Given the description of an element on the screen output the (x, y) to click on. 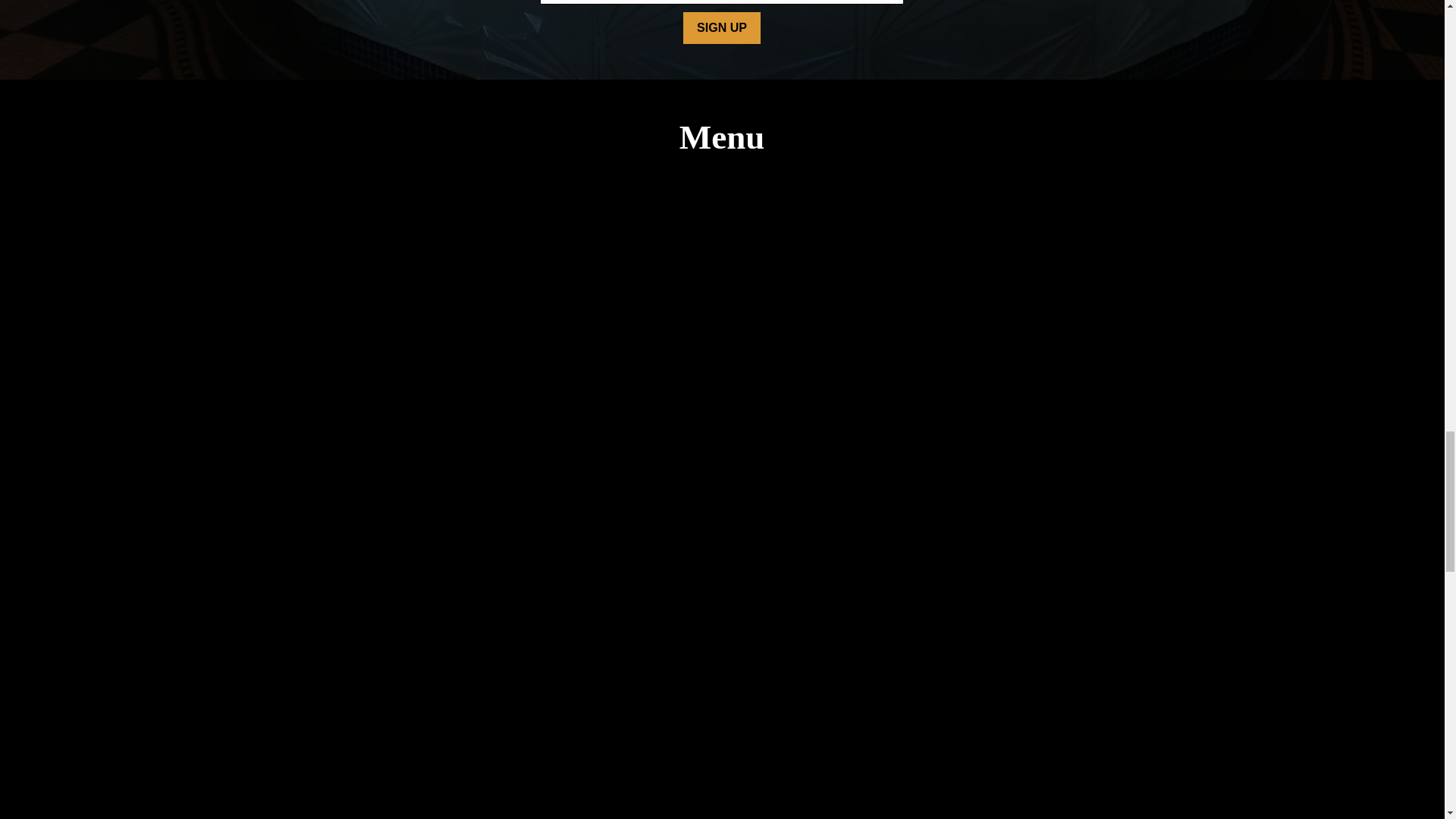
SIGN UP (721, 28)
SIGN UP (721, 28)
